Given the description of an element on the screen output the (x, y) to click on. 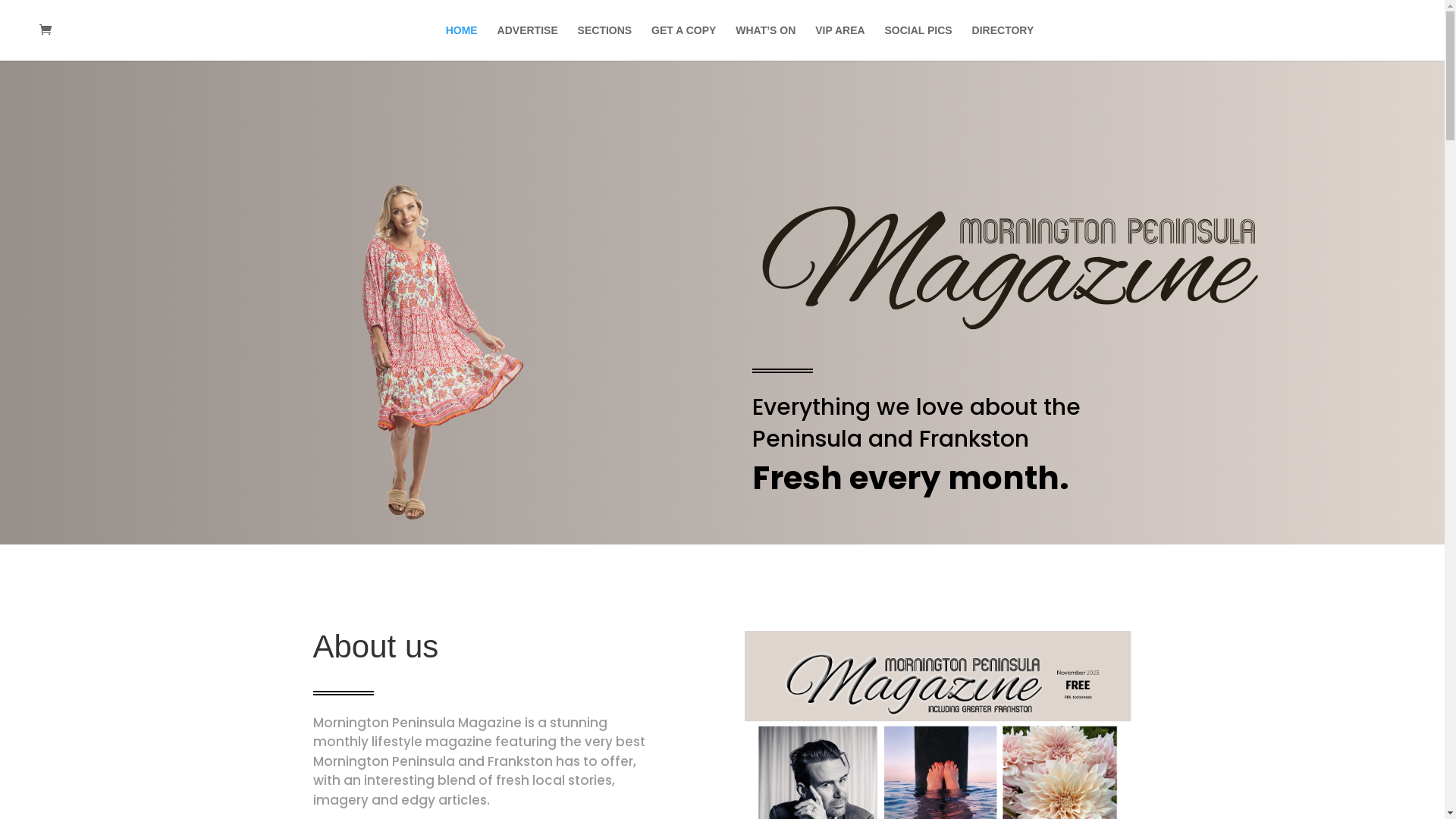
ADVERTISE Element type: text (527, 42)
DIRECTORY Element type: text (1003, 42)
yoko Element type: hover (433, 354)
VIP AREA Element type: text (839, 42)
GET A COPY Element type: text (683, 42)
SOCIAL PICS Element type: text (917, 42)
MPmagLogo Element type: hover (1009, 266)
HOME Element type: text (461, 42)
SECTIONS Element type: text (604, 42)
